Given the description of an element on the screen output the (x, y) to click on. 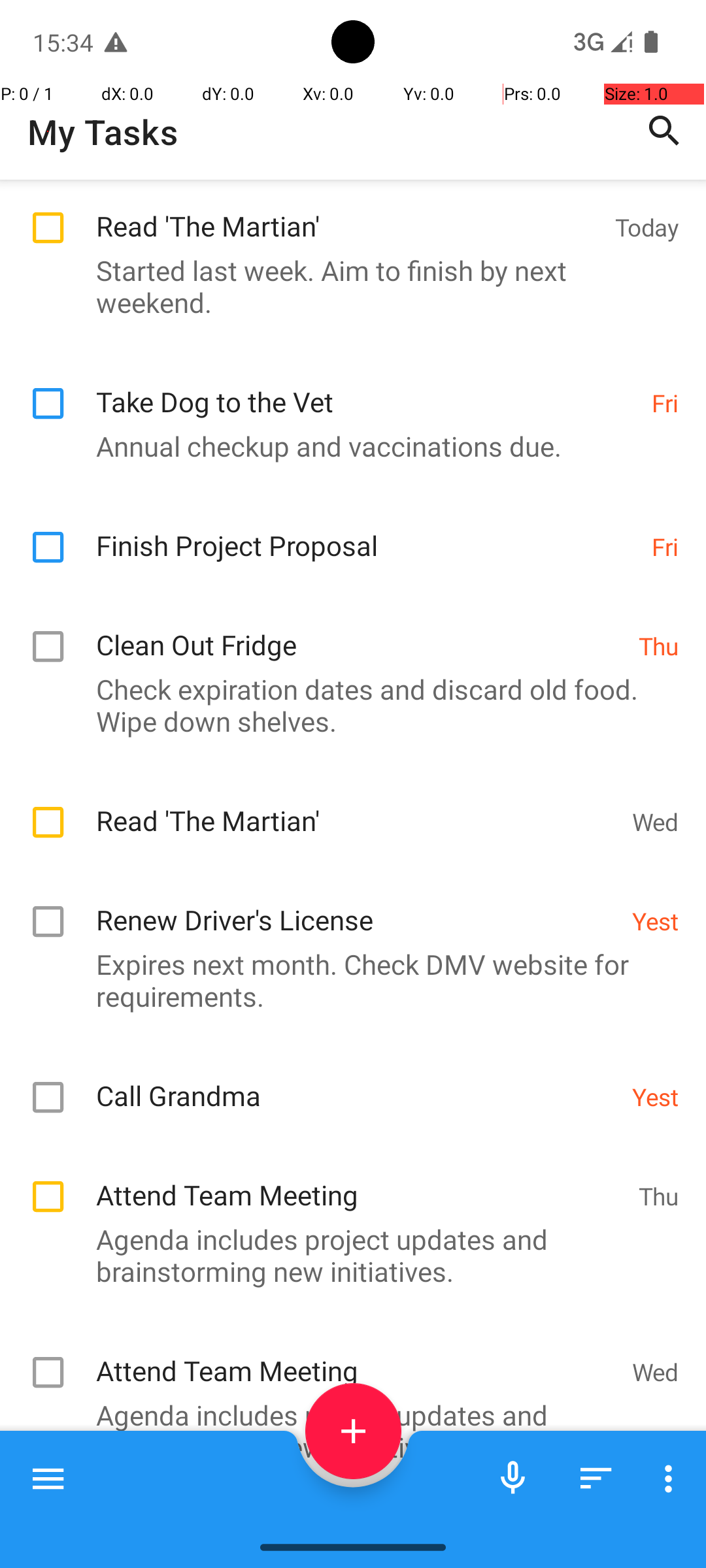
Read 'The Martian' Element type: android.widget.TextView (348, 301)
Started last week. Aim to finish by next weekend. Element type: android.widget.TextView (346, 375)
Take Dog to the Vet Element type: android.widget.TextView (367, 476)
Annual checkup and vaccinations due. Element type: android.widget.TextView (346, 535)
Finish Project Proposal Element type: android.widget.TextView (367, 620)
Clean Out Fridge Element type: android.widget.TextView (360, 719)
Check expiration dates and discard old food. Wipe down shelves. Element type: android.widget.TextView (346, 794)
Renew Driver's License Element type: android.widget.TextView (357, 949)
Expires next month. Check DMV website for requirements. Element type: android.widget.TextView (346, 1024)
Call Grandma Element type: android.widget.TextView (357, 689)
Attend Team Meeting Element type: android.widget.TextView (360, 1180)
Agenda includes project updates and brainstorming new initiatives. Element type: android.widget.TextView (346, 1254)
Schedule Dentist Appointment Element type: android.widget.TextView (357, 1513)
